Given the description of an element on the screen output the (x, y) to click on. 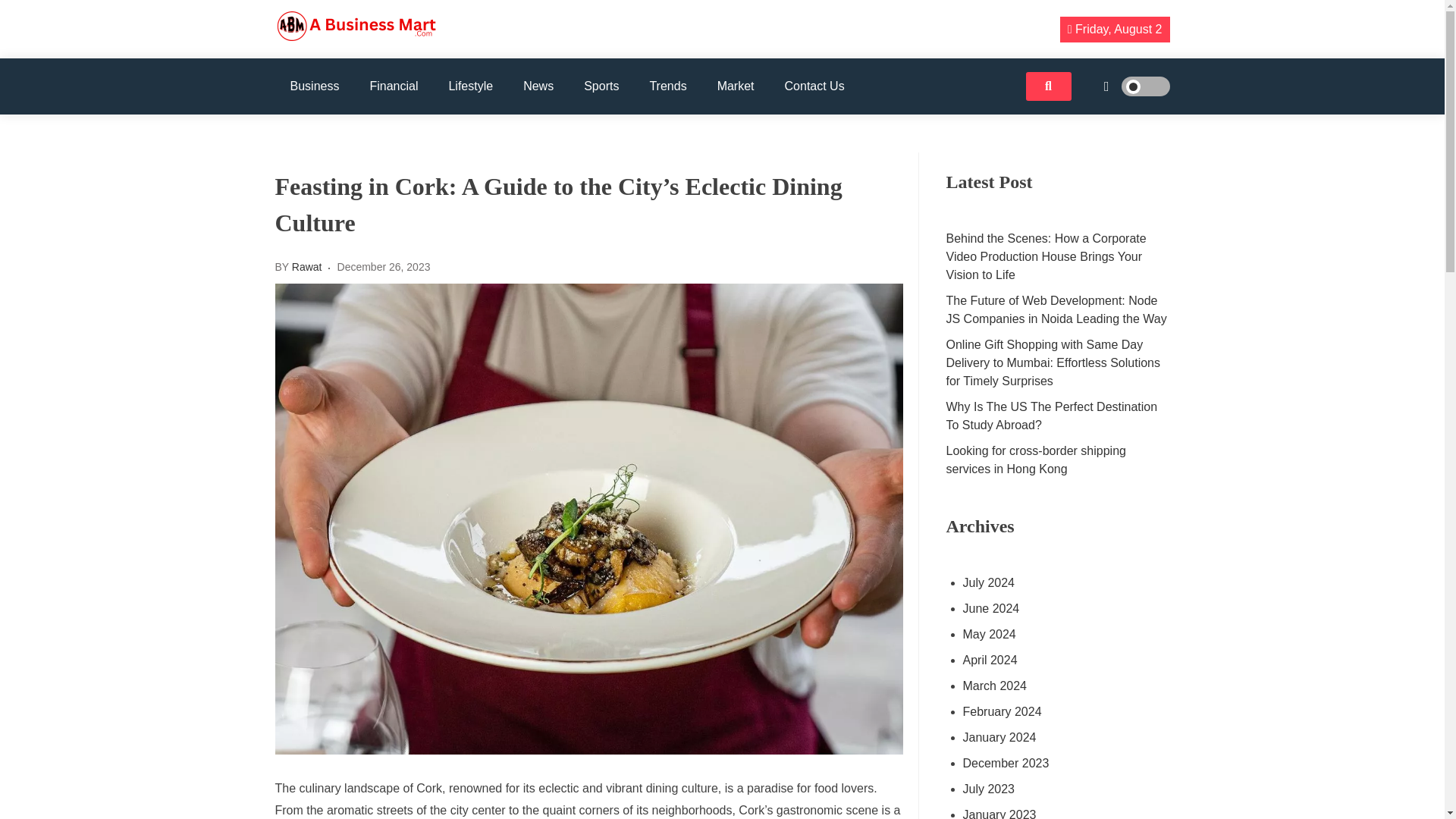
Why Is The US The Perfect Destination To Study Abroad? (1058, 415)
Market (735, 86)
Sports (601, 86)
Trends (667, 86)
December 2023 (1057, 763)
January 2024 (1057, 737)
Lifestyle (470, 86)
July 2023 (1057, 789)
